Given the description of an element on the screen output the (x, y) to click on. 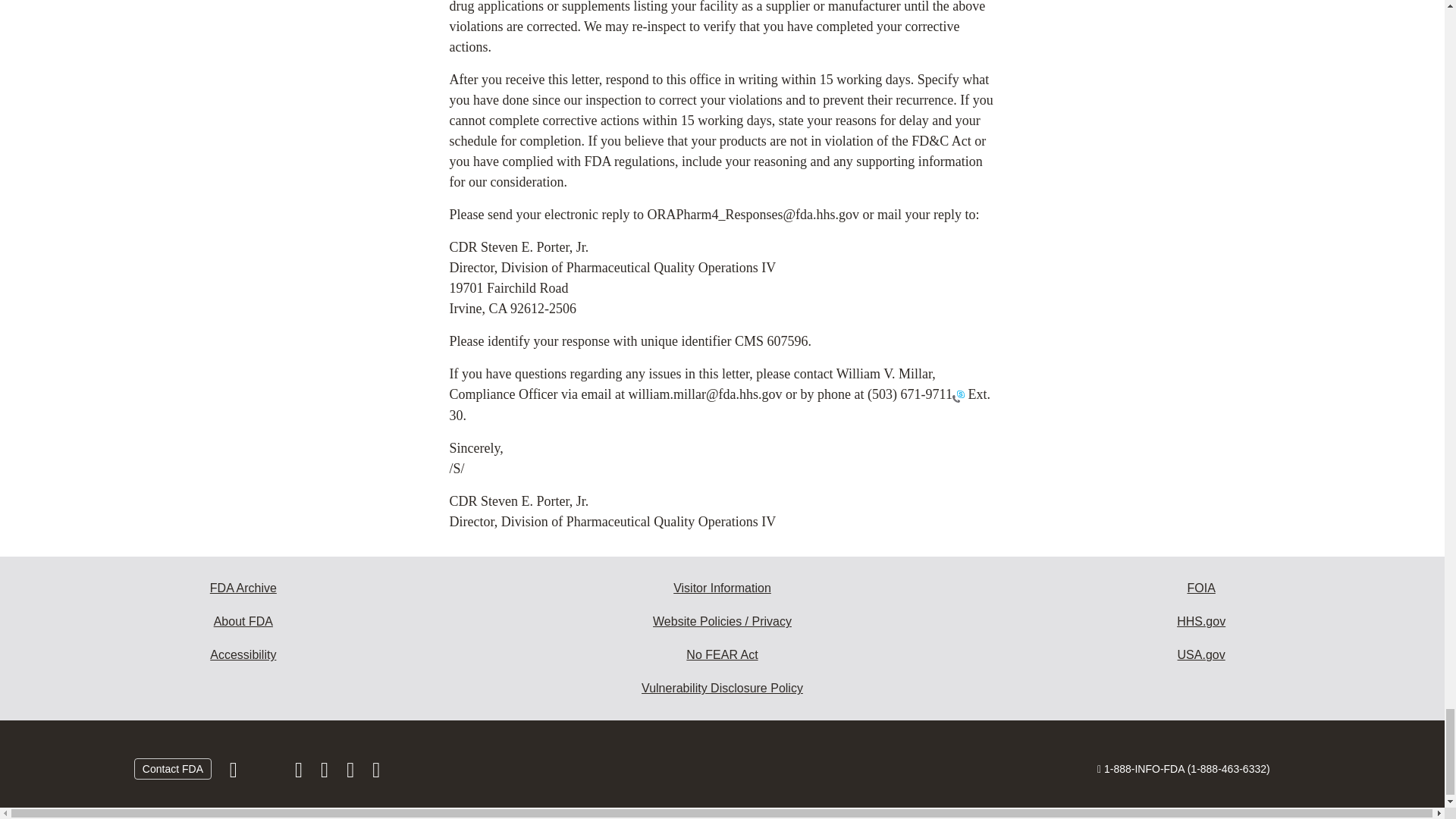
Follow FDA on LinkedIn (326, 773)
Follow FDA on Facebook (234, 773)
Health and Human Services (1200, 621)
Follow FDA on X (266, 773)
Freedom of Information Act (1200, 588)
View FDA videos on YouTube (352, 773)
Subscribe to FDA RSS feeds (376, 773)
Follow FDA on Instagram (299, 773)
